Given the description of an element on the screen output the (x, y) to click on. 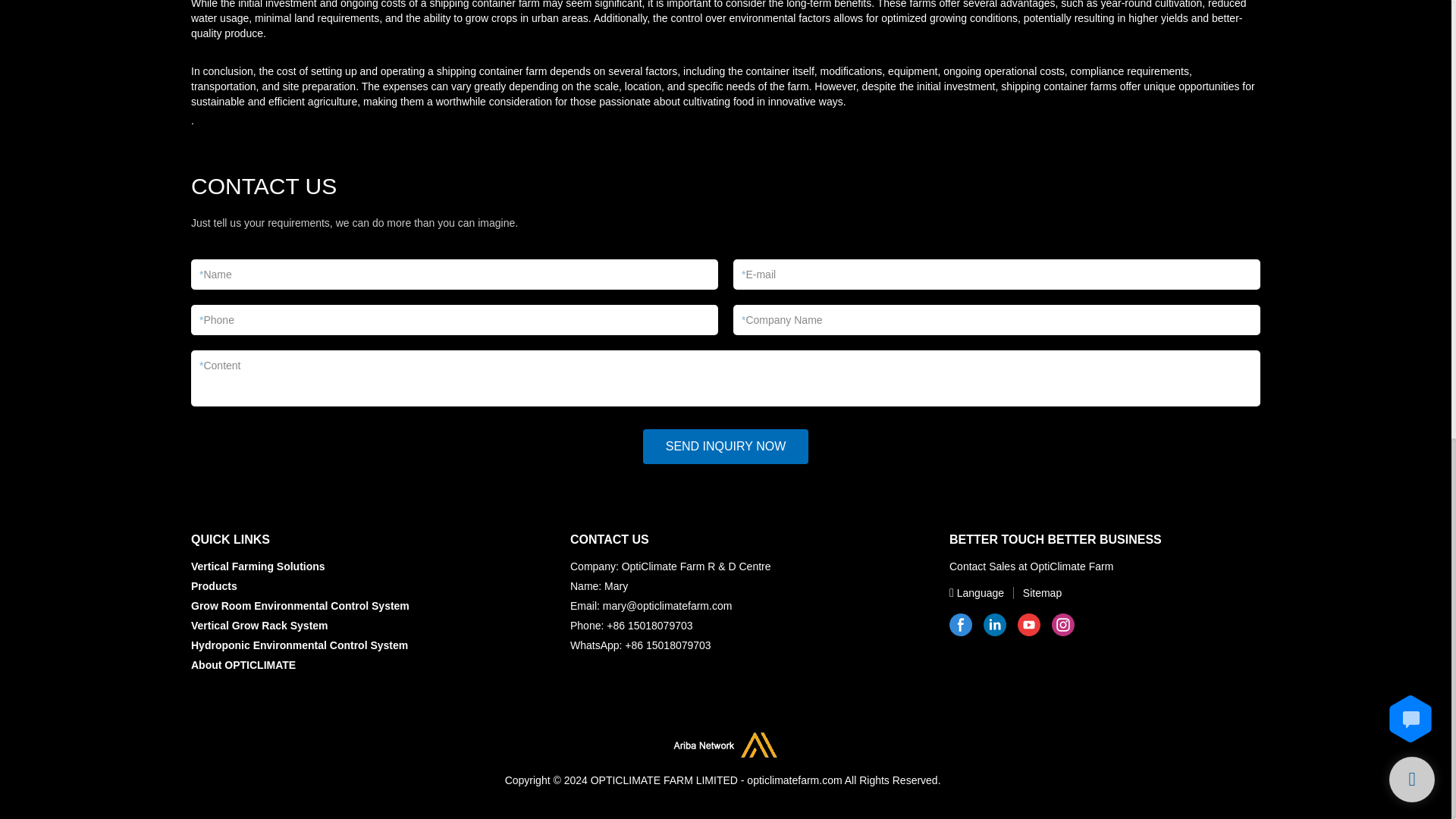
Sitemap (1034, 592)
Language (978, 592)
Hydroponic Environmental Control System (298, 645)
Grow Room Environmental Control System (299, 605)
About OPTICLIMATE (242, 664)
Vertical Farming Solutions (257, 566)
Products (213, 585)
SEND INQUIRY NOW (726, 446)
Vertical Grow Rack System (259, 625)
